Given the description of an element on the screen output the (x, y) to click on. 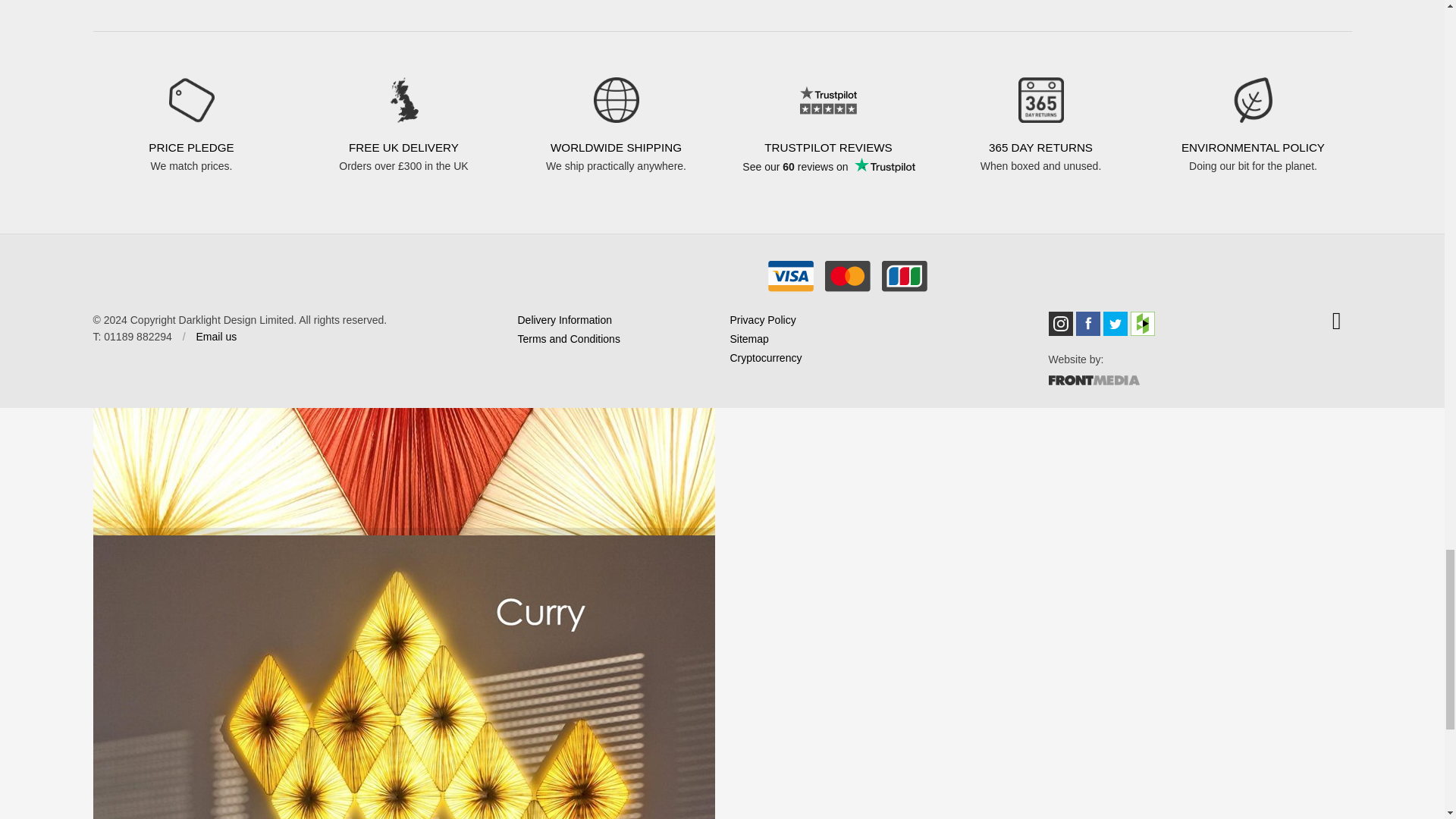
Customer reviews powered by Trustpilot (827, 176)
